Given the description of an element on the screen output the (x, y) to click on. 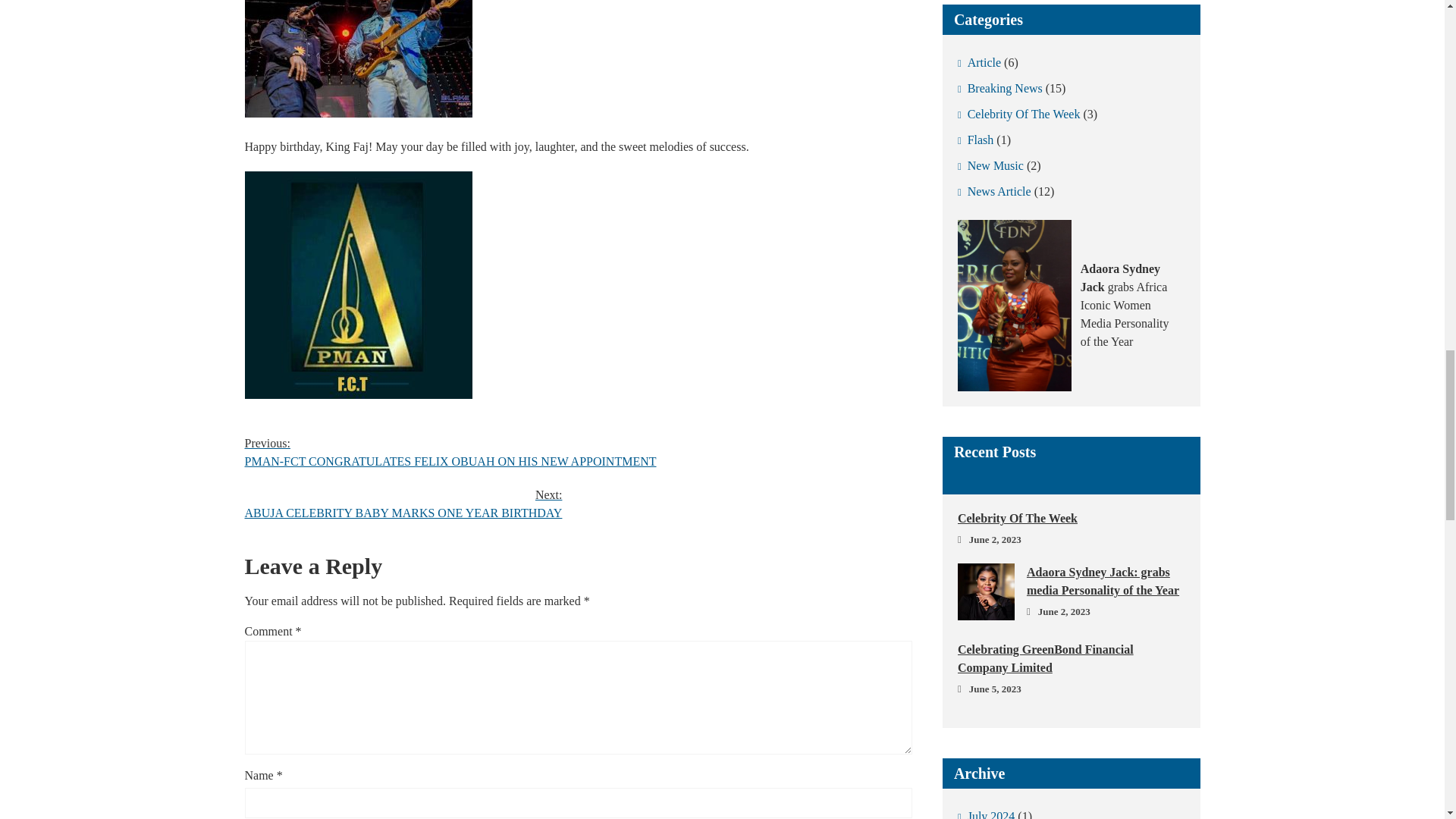
Article (979, 62)
Adaora Sydney Jack: grabs media Personality of the Year (1071, 581)
Flash (975, 140)
News Article (994, 191)
Celebrity Of The Week (1071, 518)
Celebrating GreenBond Financial Company Limited (1071, 658)
Celebrity Of The Week (1019, 114)
Breaking News (1000, 88)
July 2024 (986, 811)
